Given the description of an element on the screen output the (x, y) to click on. 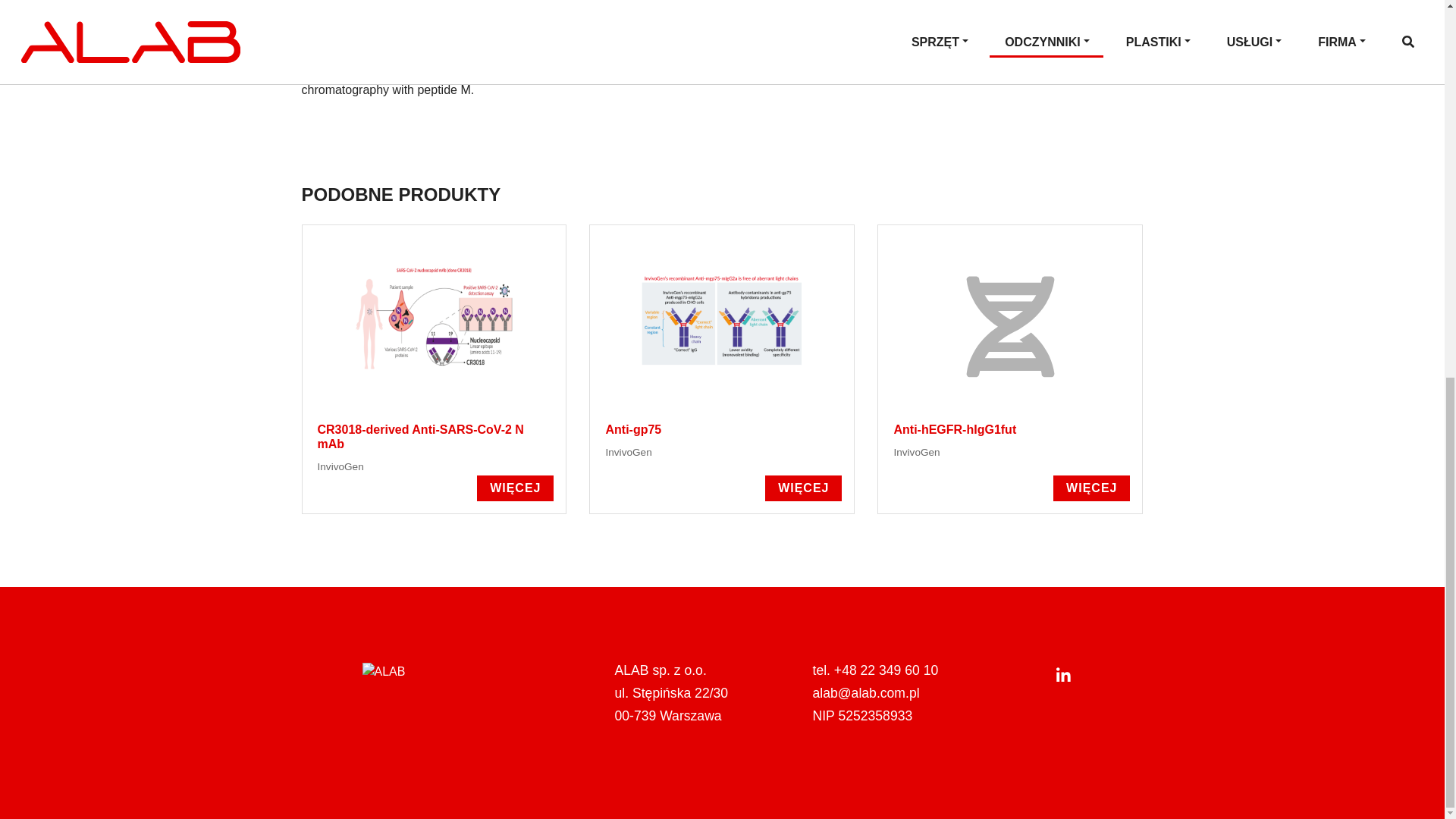
Anti-hEGFR-hIgG1fut  (1090, 488)
CR3018-derived Anti-SARS-CoV-2 N mAb  (515, 488)
Anti-gp75  (803, 488)
